Given the description of an element on the screen output the (x, y) to click on. 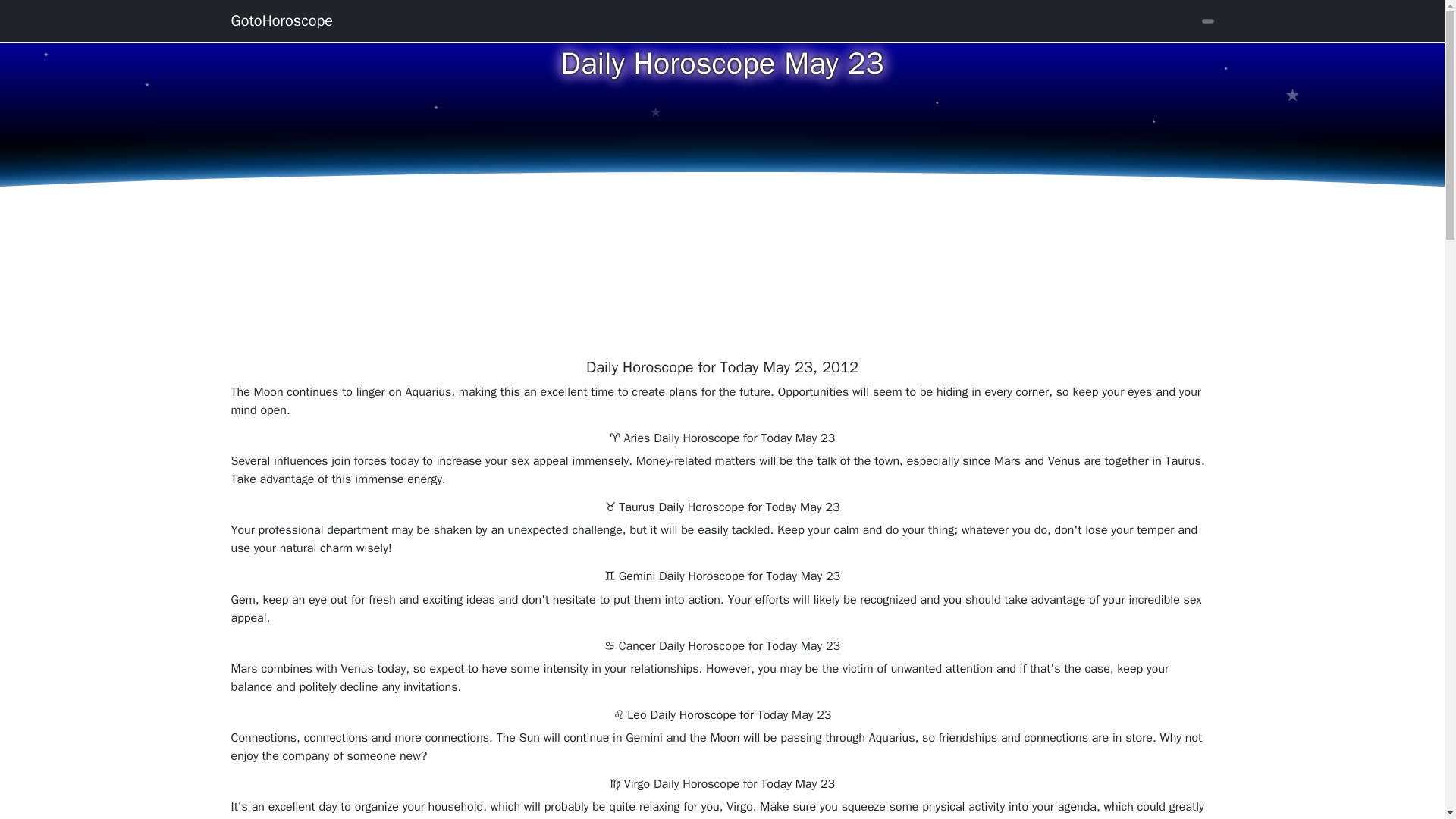
GotoHoroscope (281, 20)
Goto Horoscope Home (281, 20)
